Given the description of an element on the screen output the (x, y) to click on. 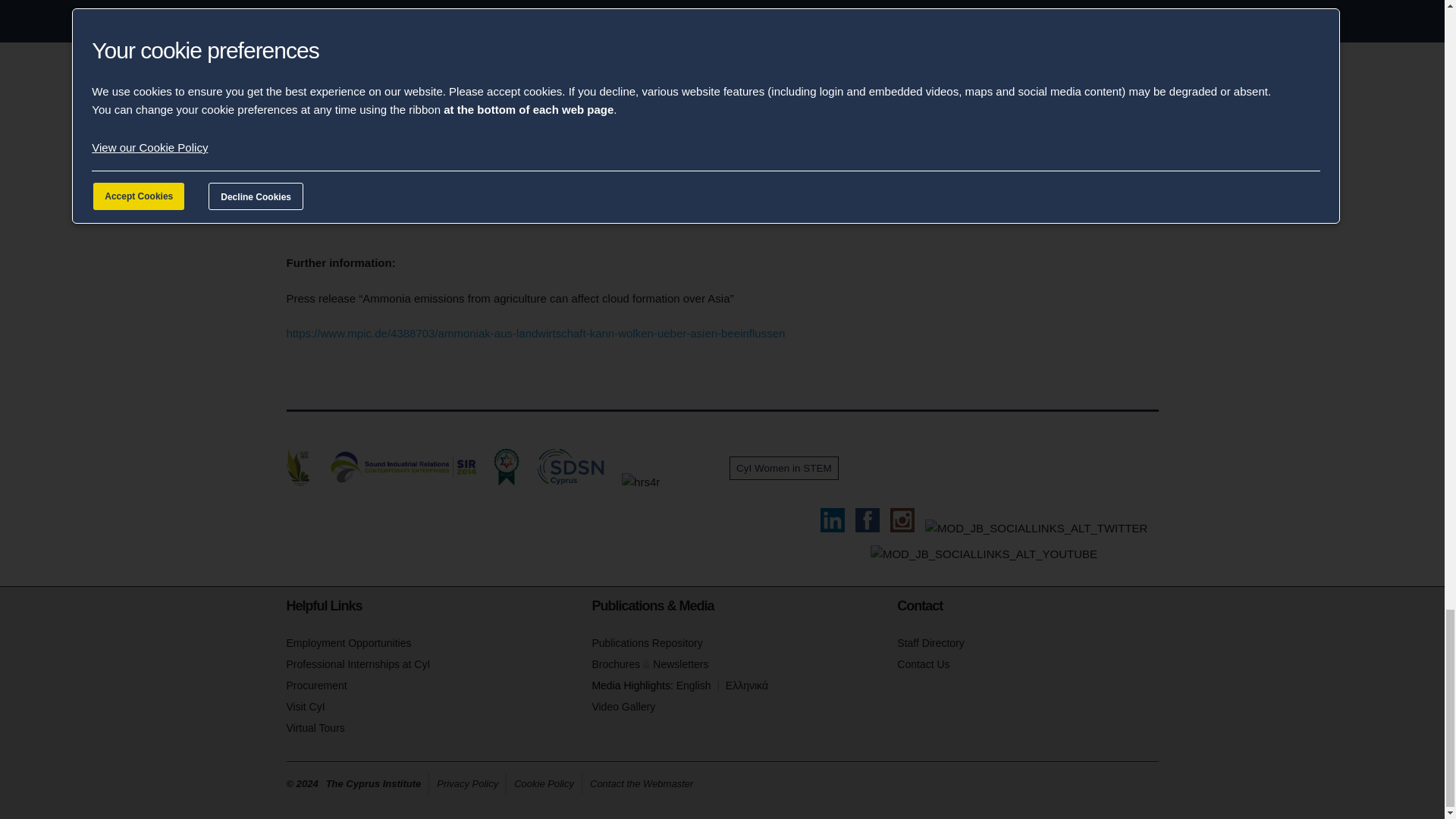
Publications (646, 643)
Employer of Gender Equality (694, 481)
Newsletter (679, 664)
